Given the description of an element on the screen output the (x, y) to click on. 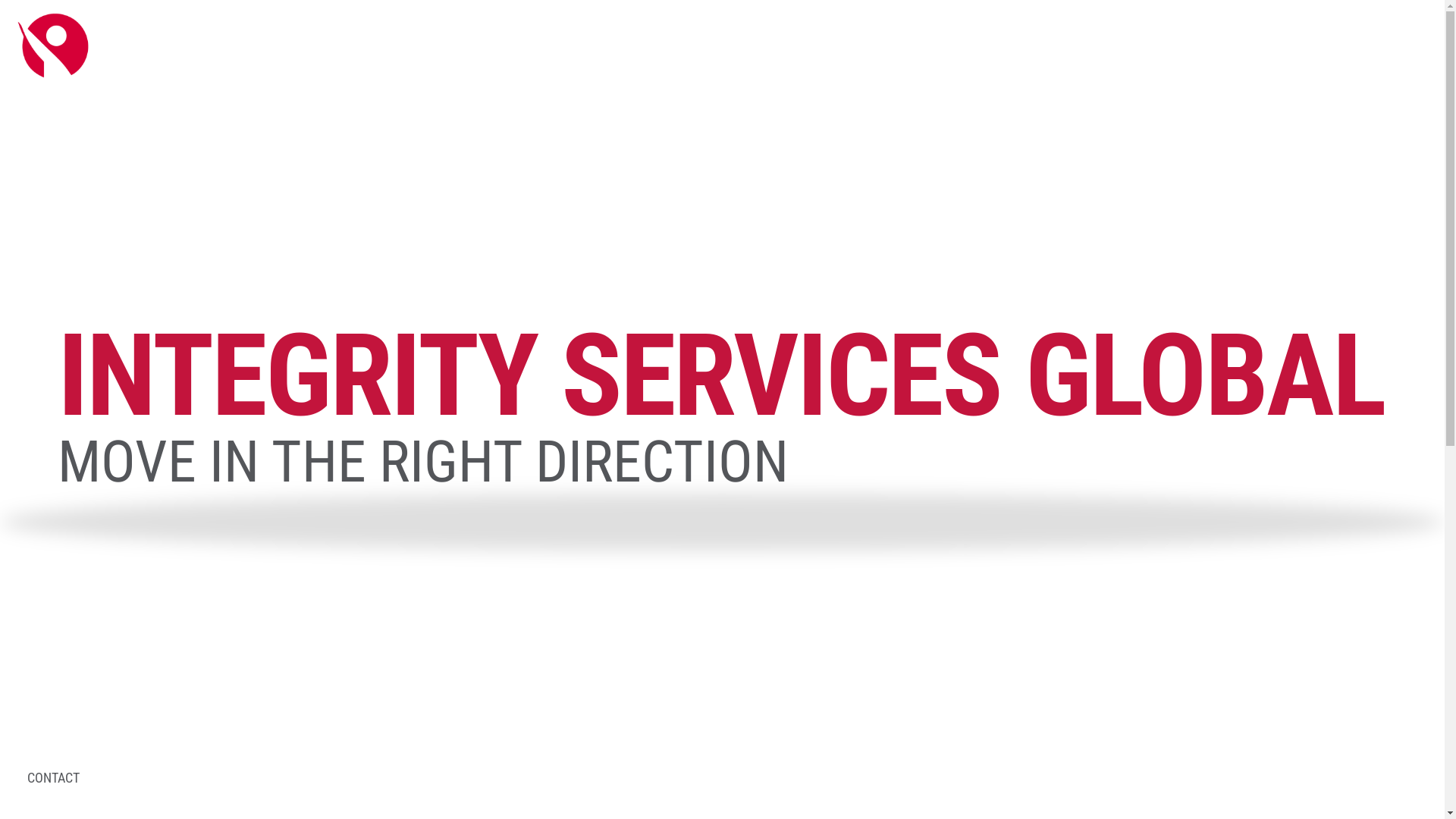
CONTACT Element type: text (63, 777)
